Given the description of an element on the screen output the (x, y) to click on. 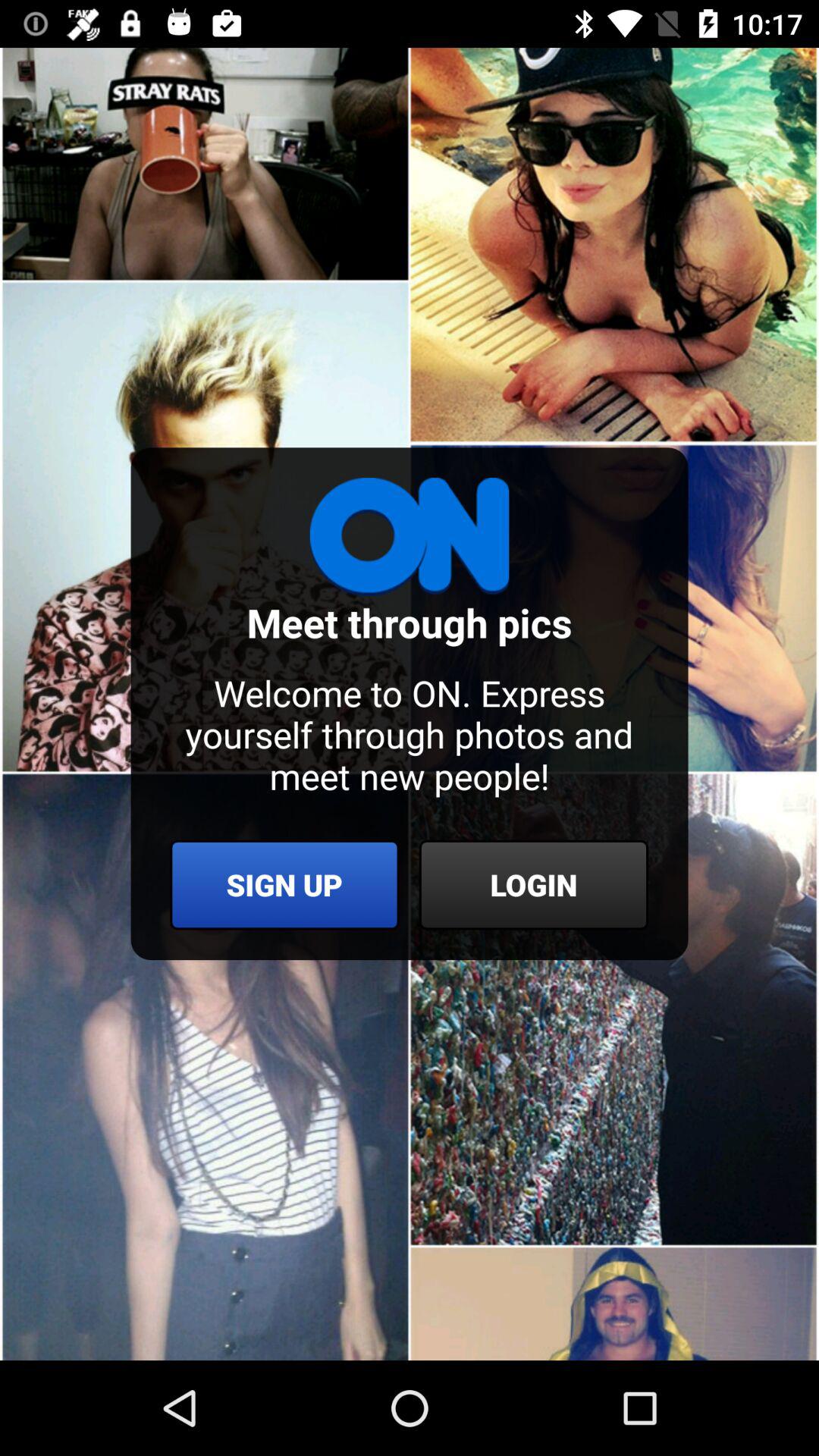
jump to the login item (533, 884)
